Given the description of an element on the screen output the (x, y) to click on. 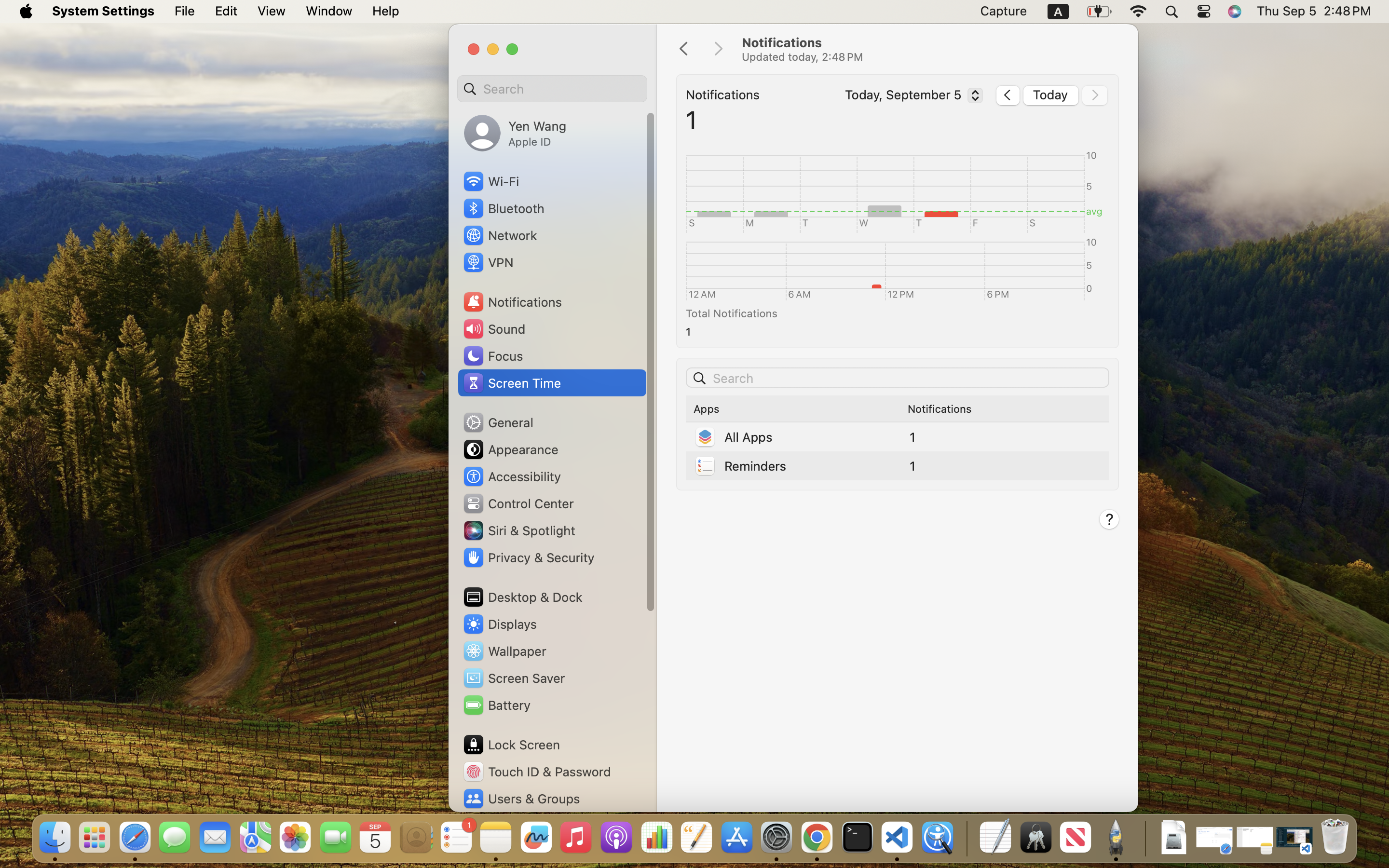
All Apps Element type: AXStaticText (732, 436)
Lock Screen Element type: AXStaticText (511, 744)
Total Notifications Element type: AXStaticText (893, 313)
Today, September 5 Element type: AXPopUpButton (911, 96)
Privacy & Security Element type: AXStaticText (528, 557)
